Given the description of an element on the screen output the (x, y) to click on. 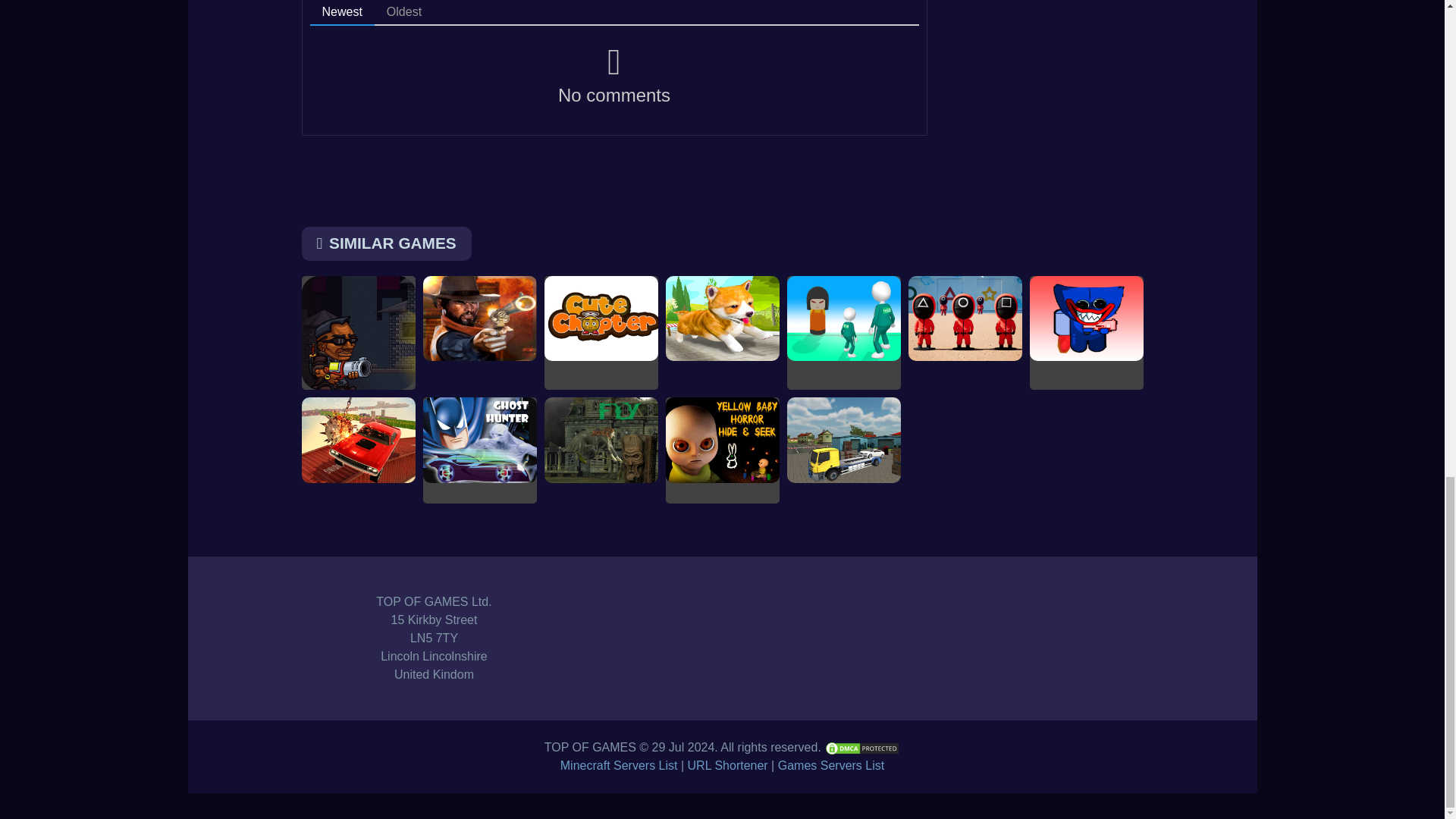
Free URL Shortener (727, 765)
Free Minecraft Servers List (619, 765)
DMCA.com Protection Status (861, 747)
Games Servers List (830, 765)
